Given the description of an element on the screen output the (x, y) to click on. 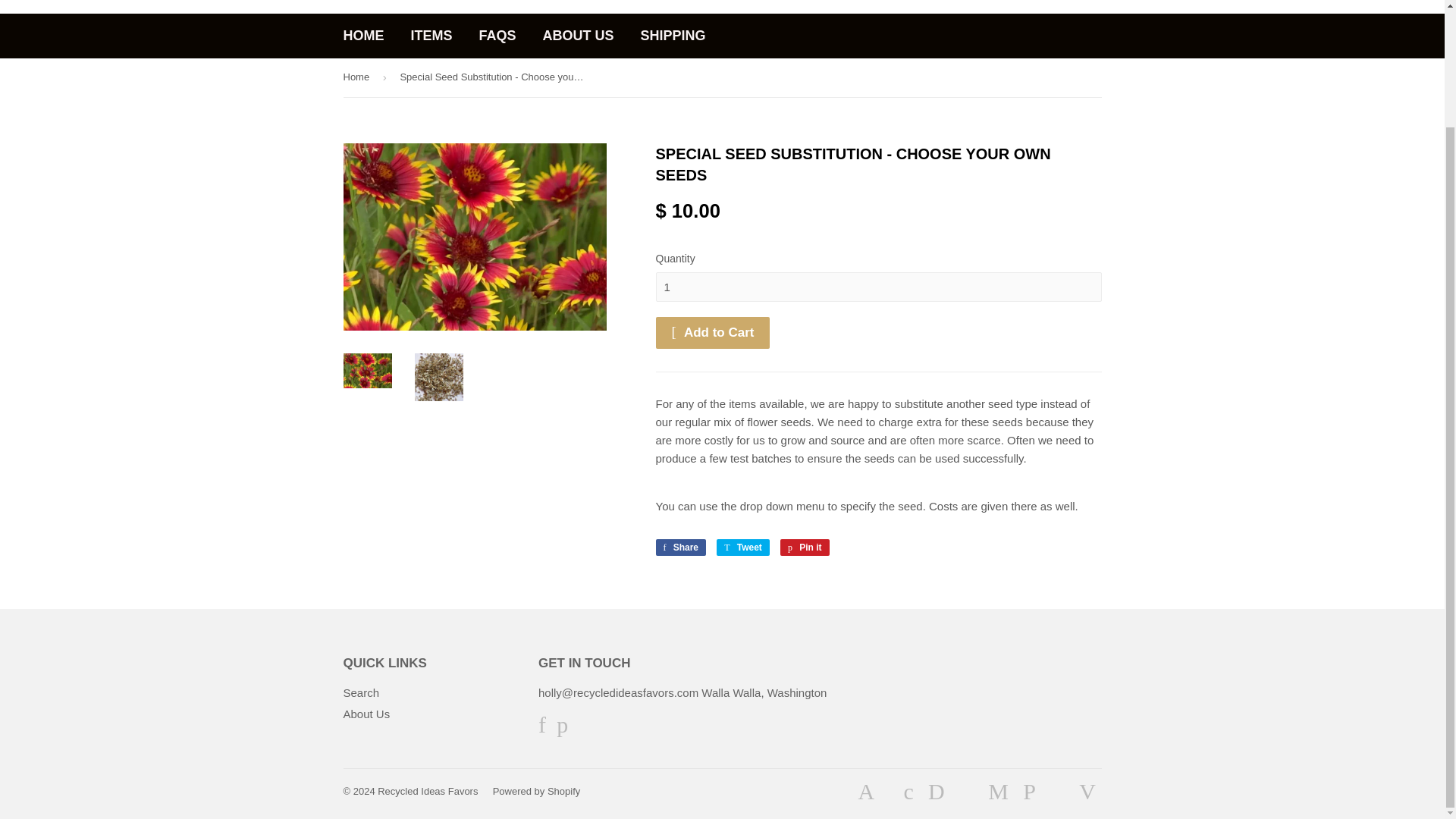
SHIPPING (672, 35)
Tweet (743, 547)
Pin it (804, 547)
HOME (363, 35)
Share (680, 547)
Powered by Shopify (536, 790)
ITEMS (431, 35)
FAQS (497, 35)
Add to Cart (712, 332)
1 (877, 286)
